Given the description of an element on the screen output the (x, y) to click on. 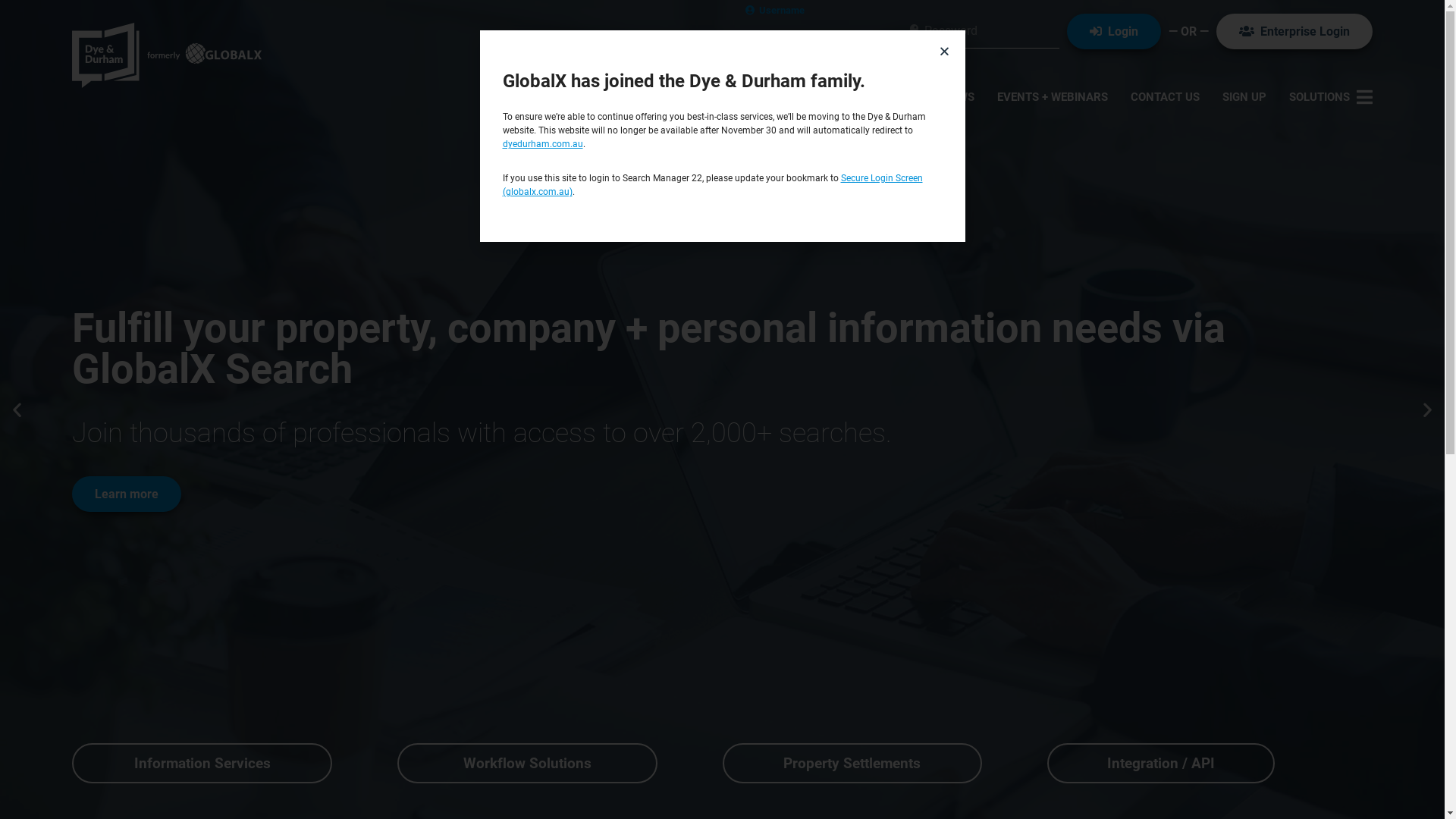
  Login Element type: text (1113, 31)
  Enterprise Login Element type: text (1294, 31)
Workflow Solutions Element type: text (527, 763)
Integration / API Element type: text (1160, 763)
Information Services Element type: text (202, 763)
INTEGRATION / API Element type: text (783, 96)
EVENTS + WEBINARS Element type: text (1052, 96)
INDUSTRIES Element type: text (888, 96)
NEWS Element type: text (958, 96)
Learn more Element type: text (126, 493)
dyedurham.com.au Element type: text (542, 143)
Secure Login Screen (globalx.com.au) Element type: text (712, 184)
SOLUTIONS Element type: text (1330, 96)
Property Settlements Element type: text (851, 763)
SIGN UP Element type: text (1244, 96)
CONTACT US Element type: text (1164, 96)
